Given the description of an element on the screen output the (x, y) to click on. 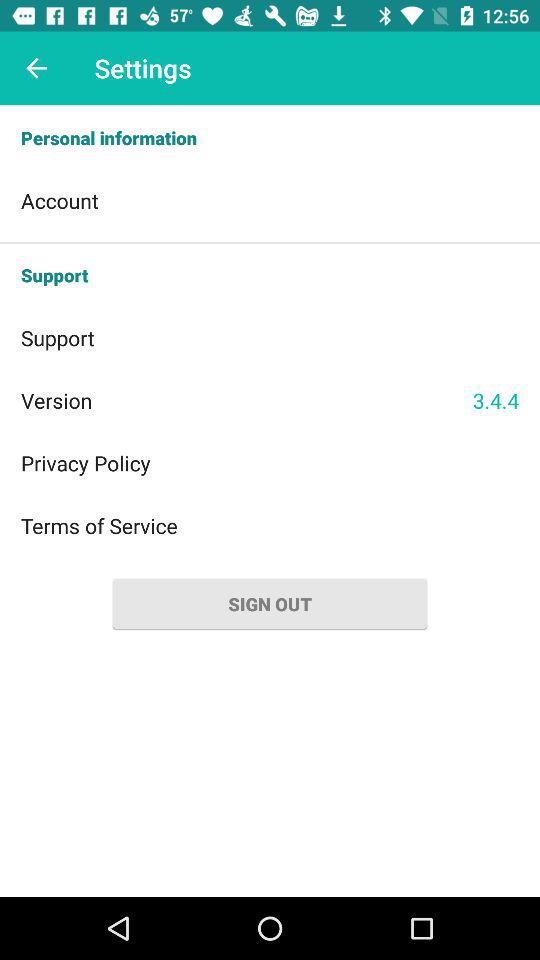
launch the sign out icon (269, 603)
